Given the description of an element on the screen output the (x, y) to click on. 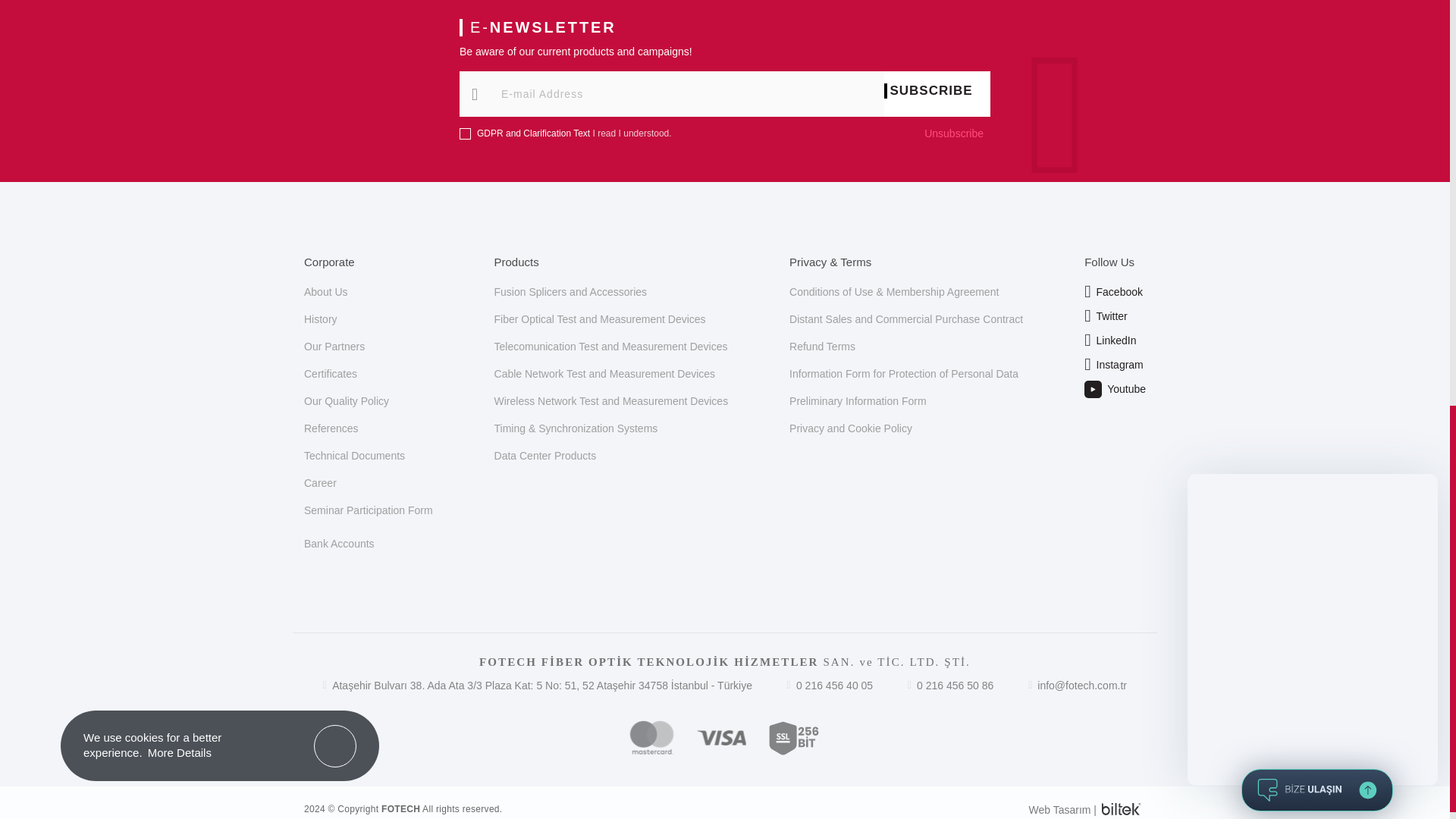
SUBSCRIBE (936, 90)
